Given the description of an element on the screen output the (x, y) to click on. 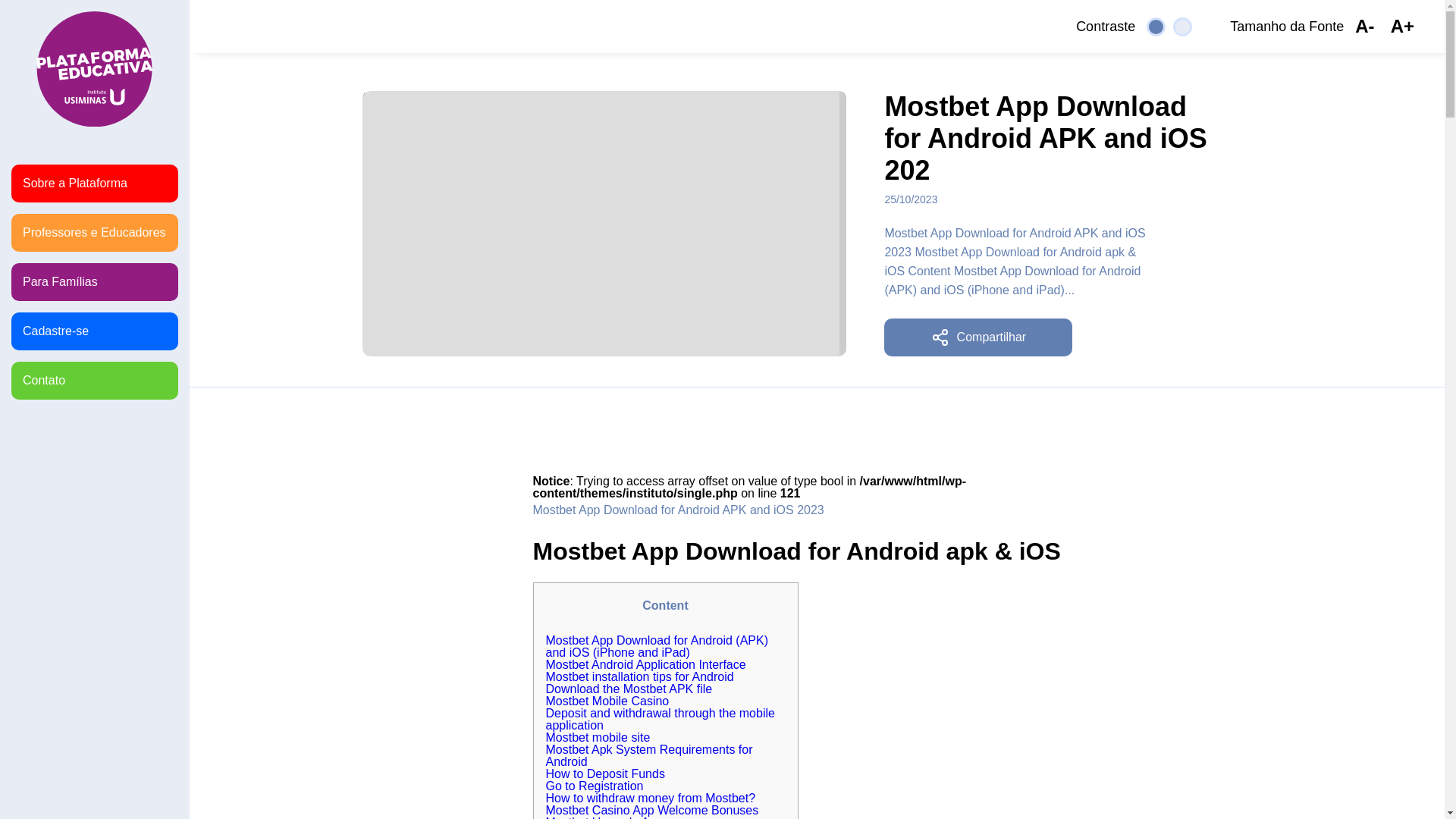
Cadastre-se (94, 331)
Contato (94, 380)
Alterar para Tema Claro (1182, 26)
Alterar para Tema Escuro (1156, 26)
Professores e Educadores (94, 232)
Sobre a Plataforma (94, 183)
